Given the description of an element on the screen output the (x, y) to click on. 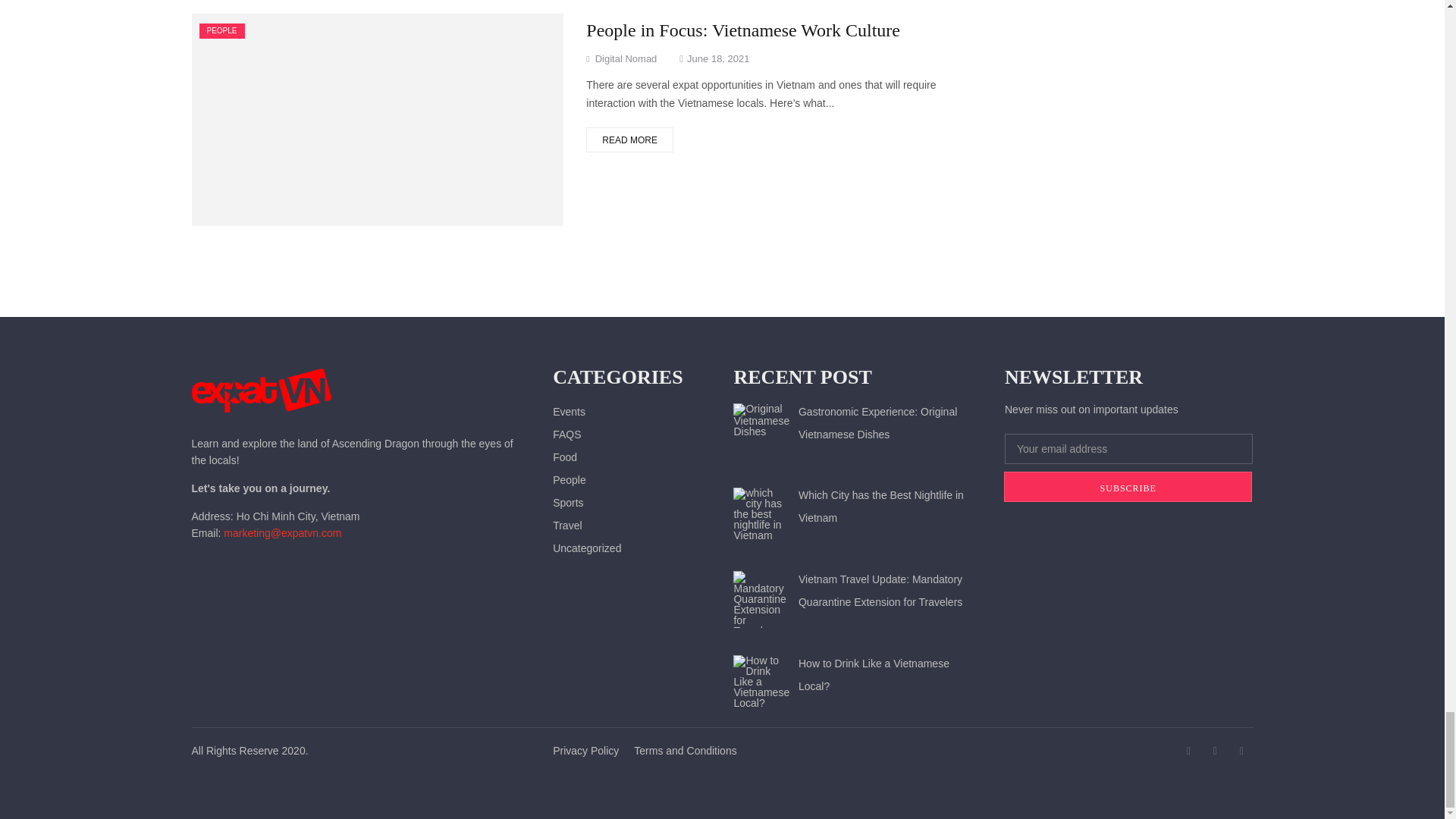
Subscribe (1128, 486)
